Given the description of an element on the screen output the (x, y) to click on. 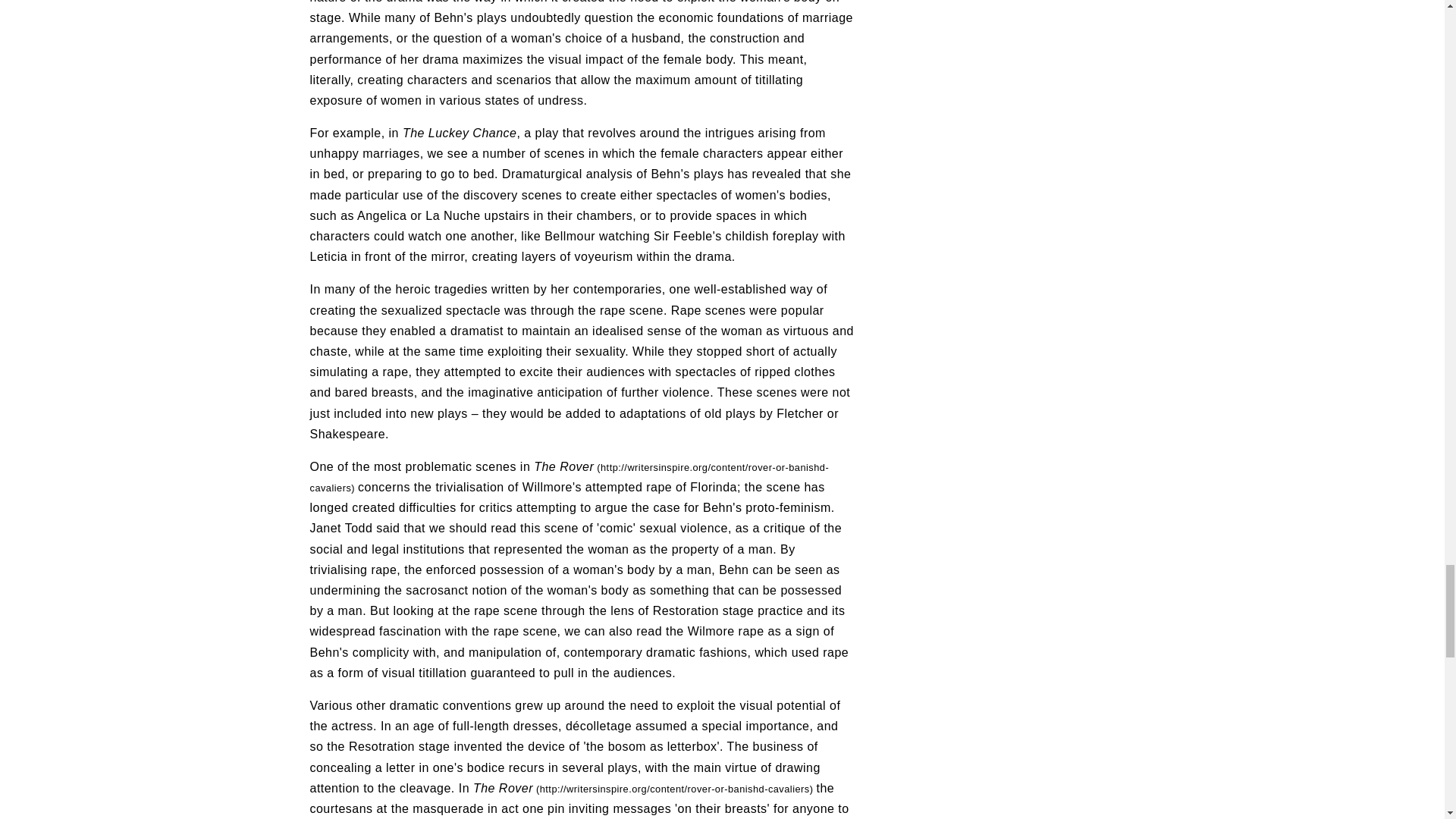
The Rover (568, 476)
The Rover (644, 788)
